Given the description of an element on the screen output the (x, y) to click on. 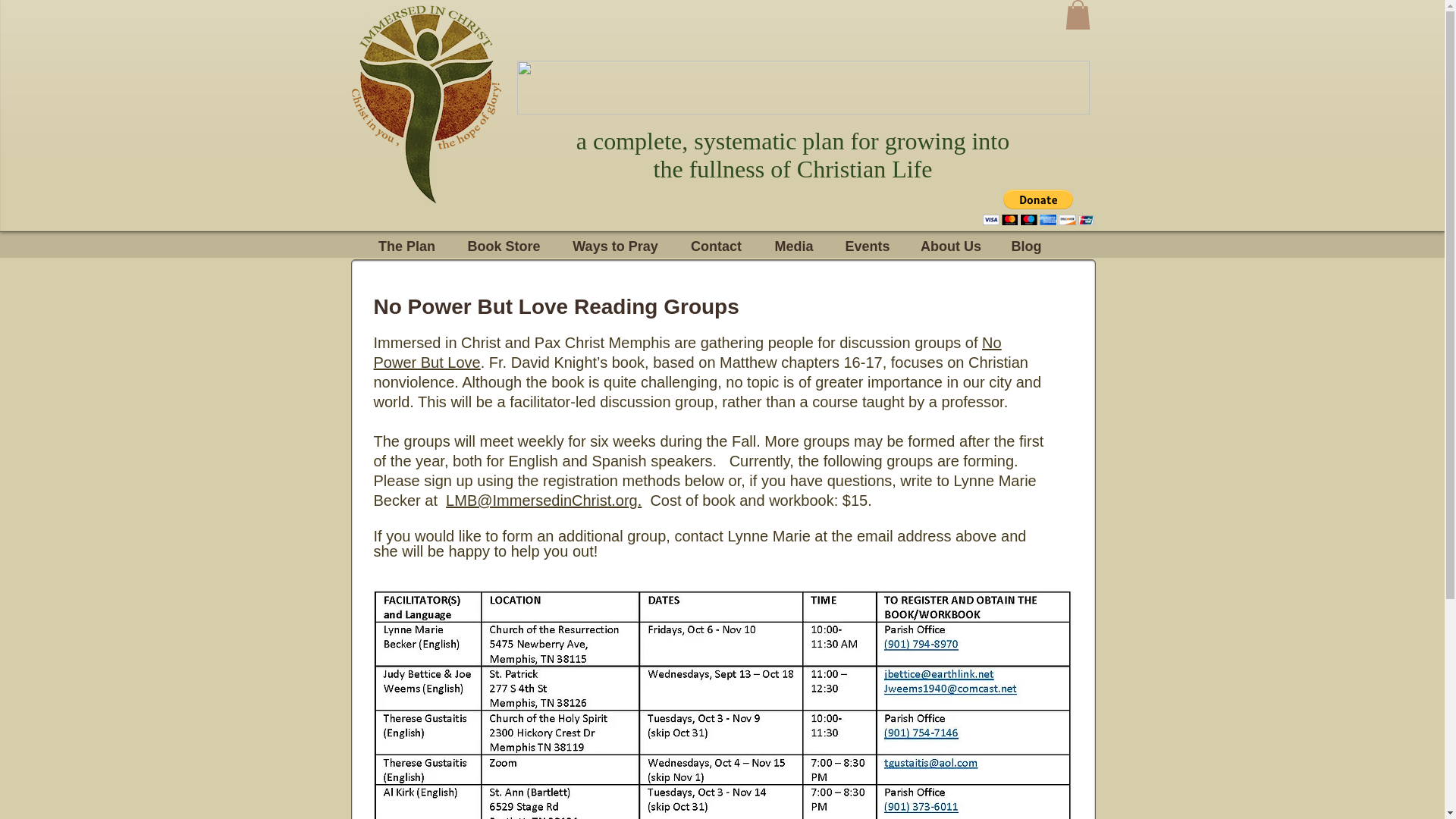
IMMERSED IN CHRISTonly.png (802, 87)
logo w-text.png (423, 104)
Ways to Pray (615, 244)
Book Store (503, 244)
The Plan (406, 244)
Contact (716, 244)
